Given the description of an element on the screen output the (x, y) to click on. 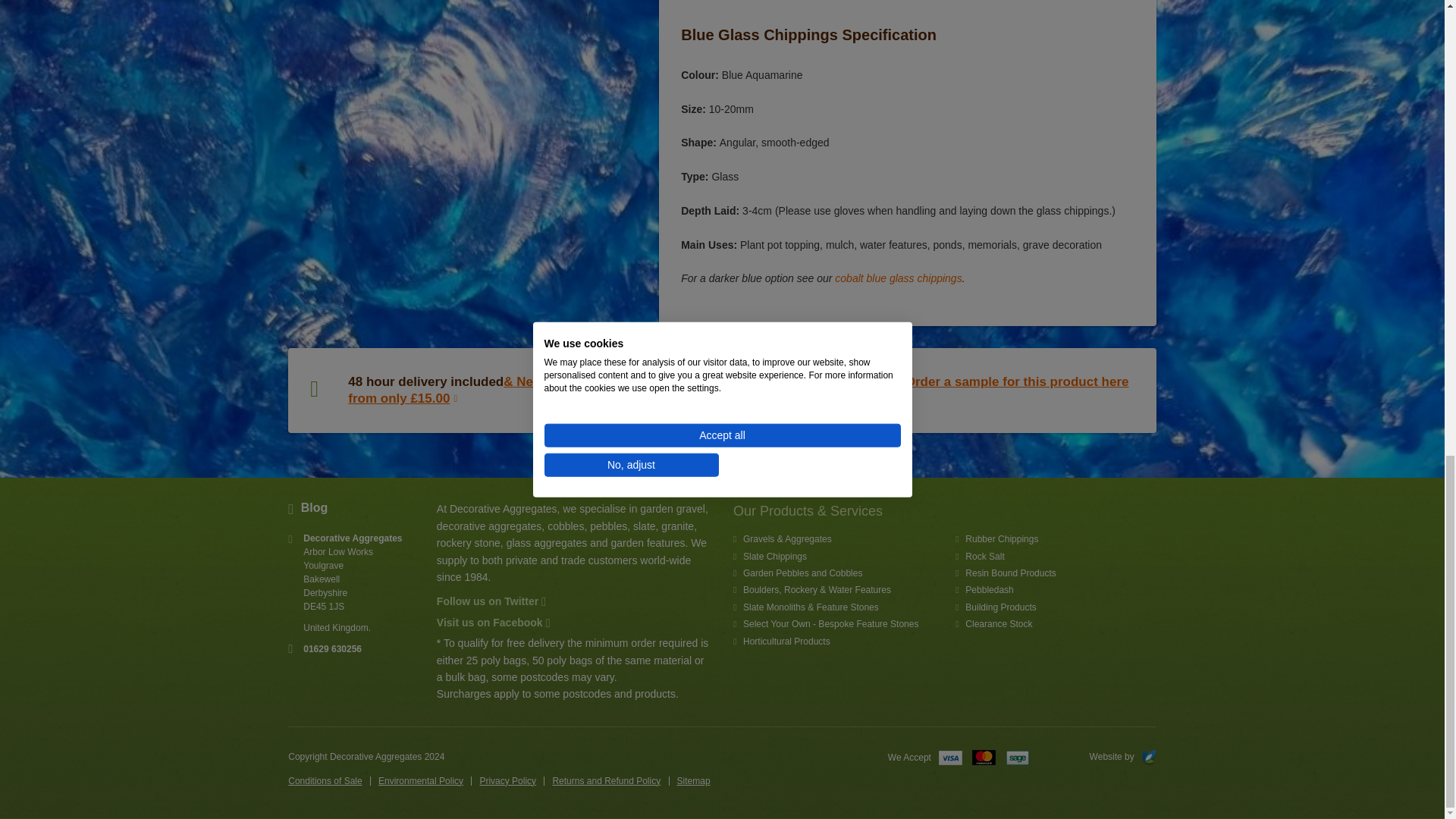
Website by Evoluted (1092, 756)
